Given the description of an element on the screen output the (x, y) to click on. 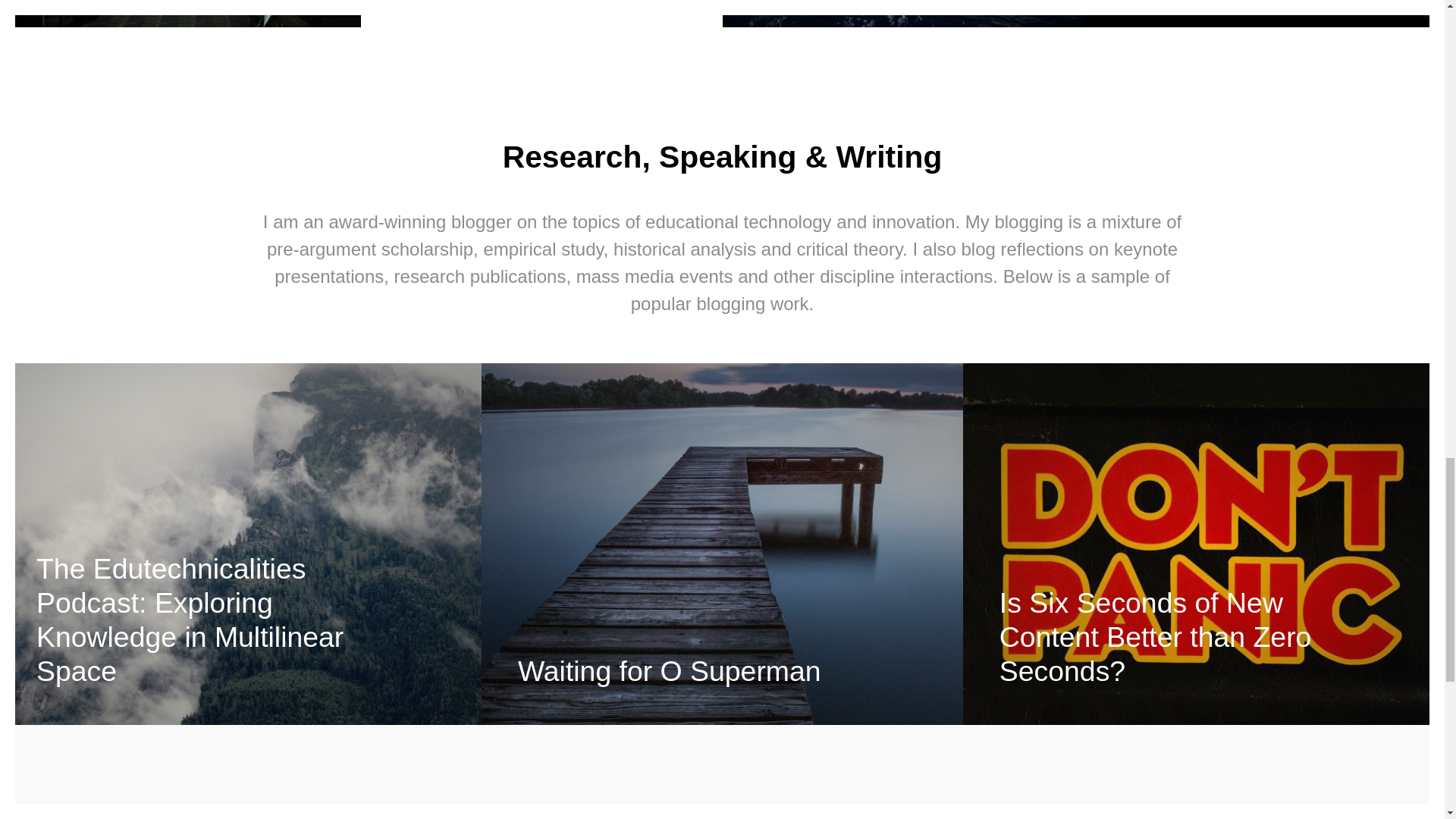
Flexible Learning Environments (541, 13)
Is Six Seconds of New Content Better than Zero Seconds? (1154, 637)
.Is Six Seconds of New Content Better than Zero Seconds? (1154, 637)
Waiting for O Superman (669, 671)
.Waiting for O Superman (669, 671)
Emergent Scholarship (902, 13)
